Given the description of an element on the screen output the (x, y) to click on. 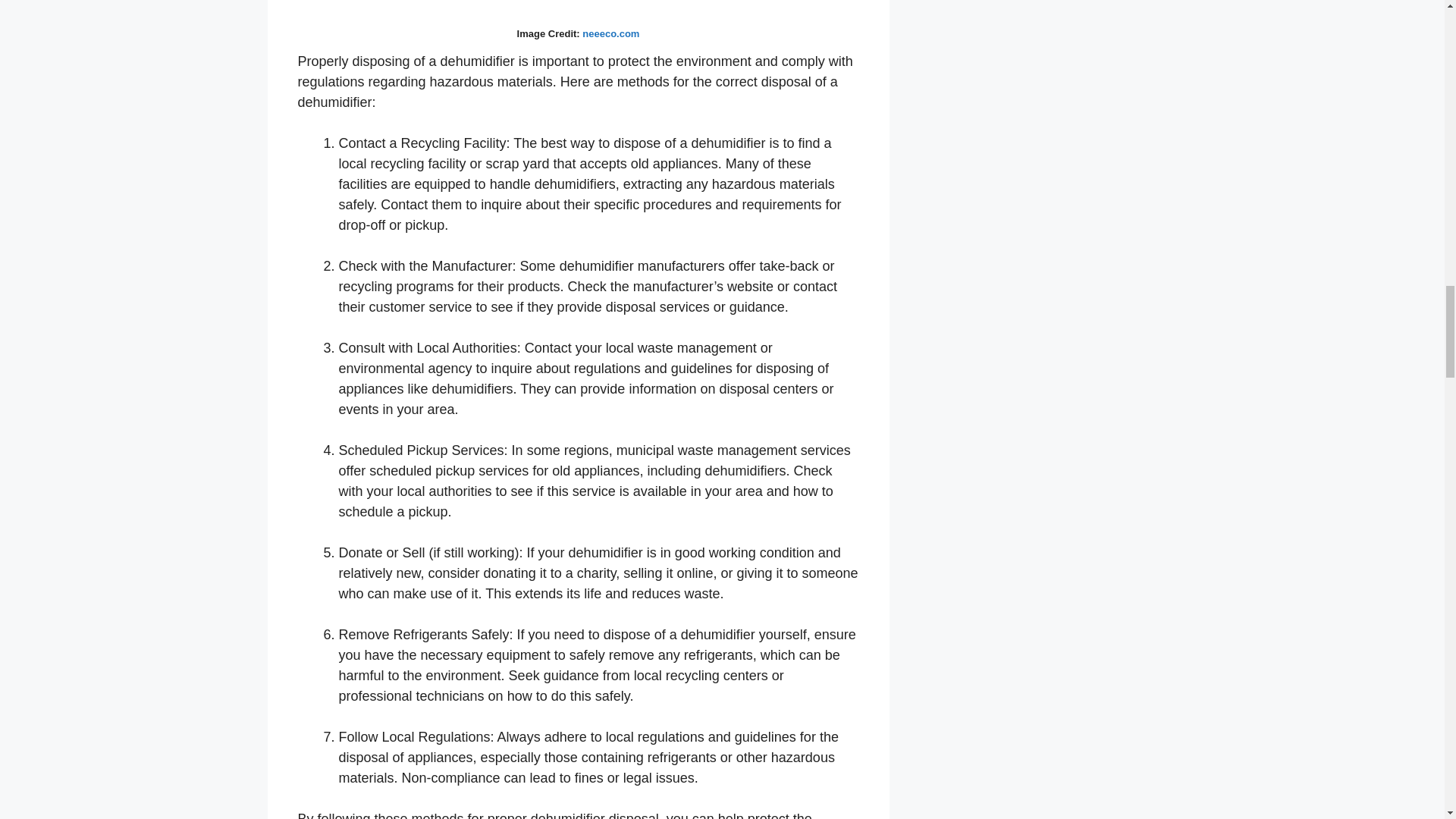
neeeco.com (610, 33)
